Given the description of an element on the screen output the (x, y) to click on. 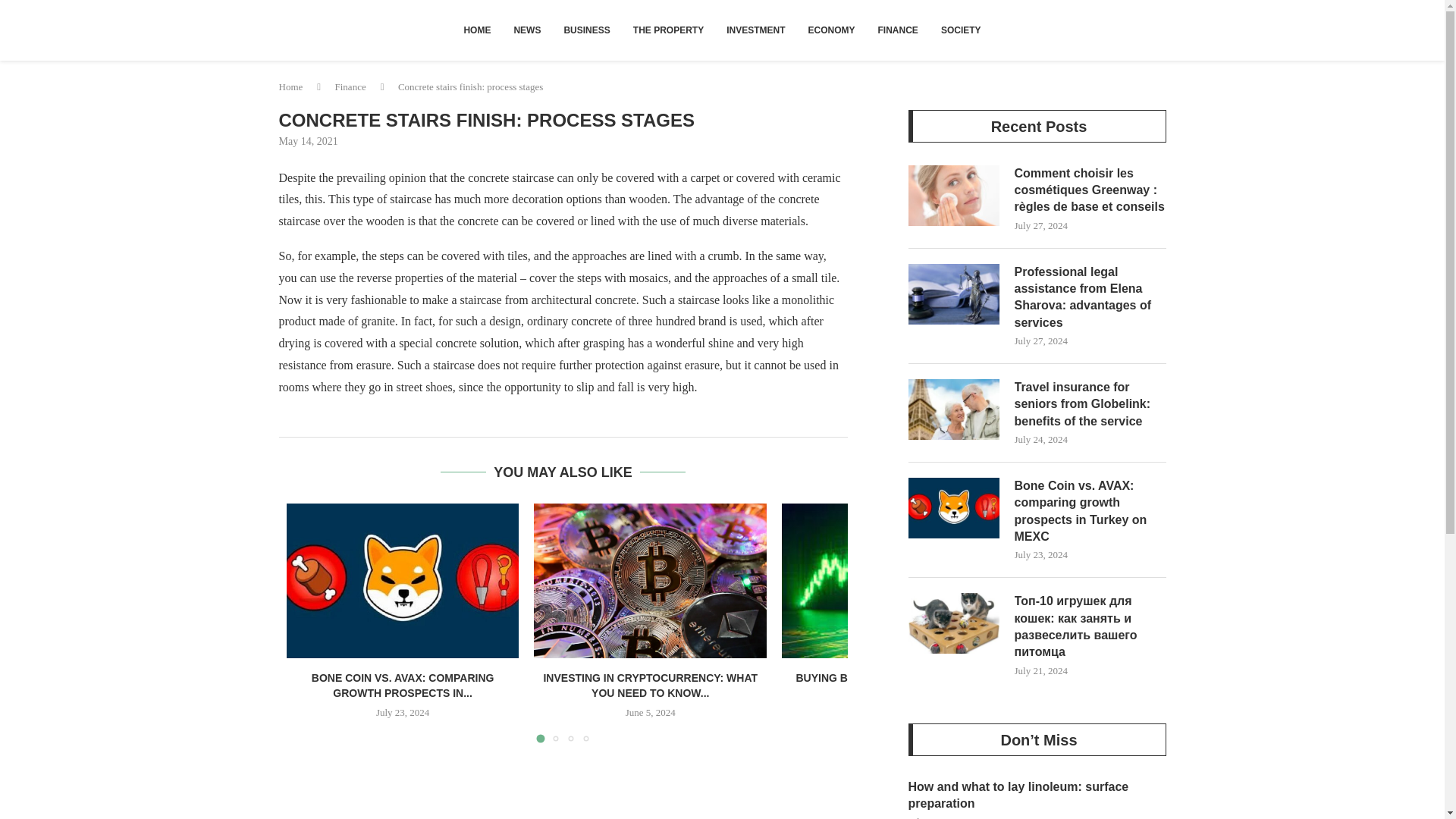
BUSINESS (586, 30)
HOME (476, 30)
FINANCE (898, 30)
Investing in cryptocurrency: what you need to know and tips (650, 580)
Home (290, 86)
NEWS (526, 30)
THE PROPERTY (667, 30)
SOCIETY (961, 30)
